Given the description of an element on the screen output the (x, y) to click on. 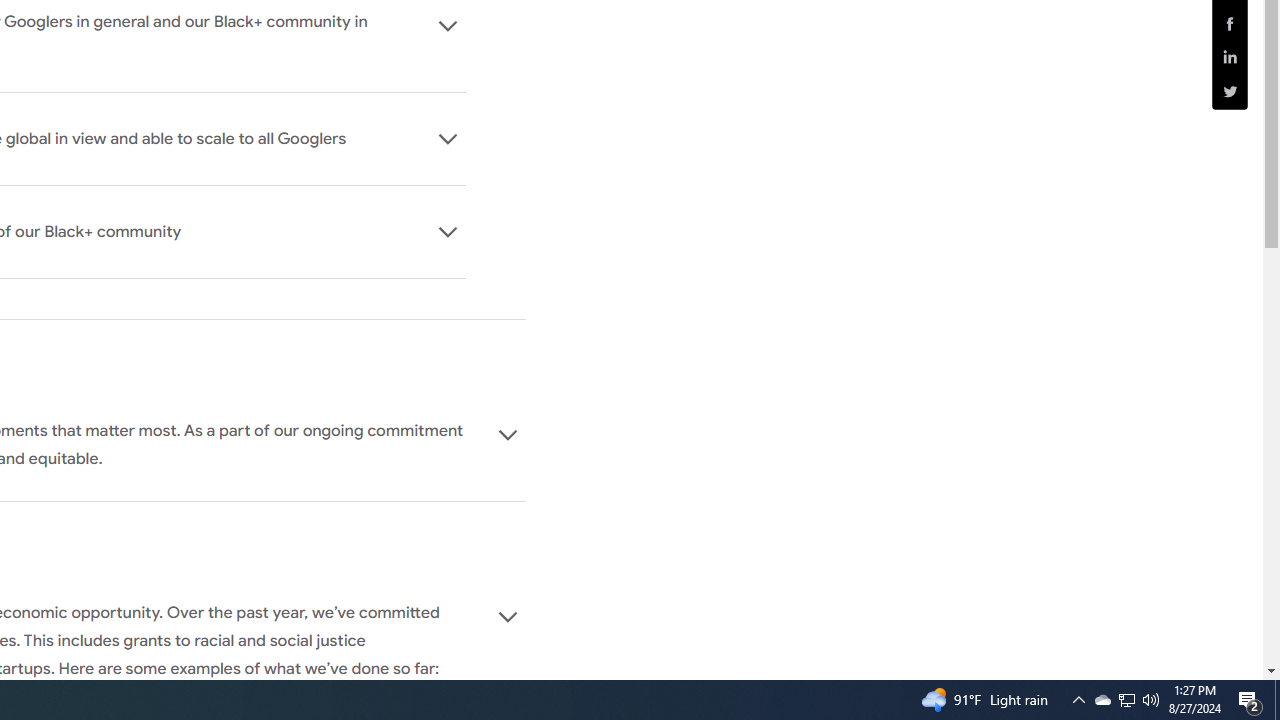
Share this page (Twitter) (1230, 91)
Share this page (Facebook) (1230, 23)
Share this page (LinkedIn) (1230, 57)
